Given the description of an element on the screen output the (x, y) to click on. 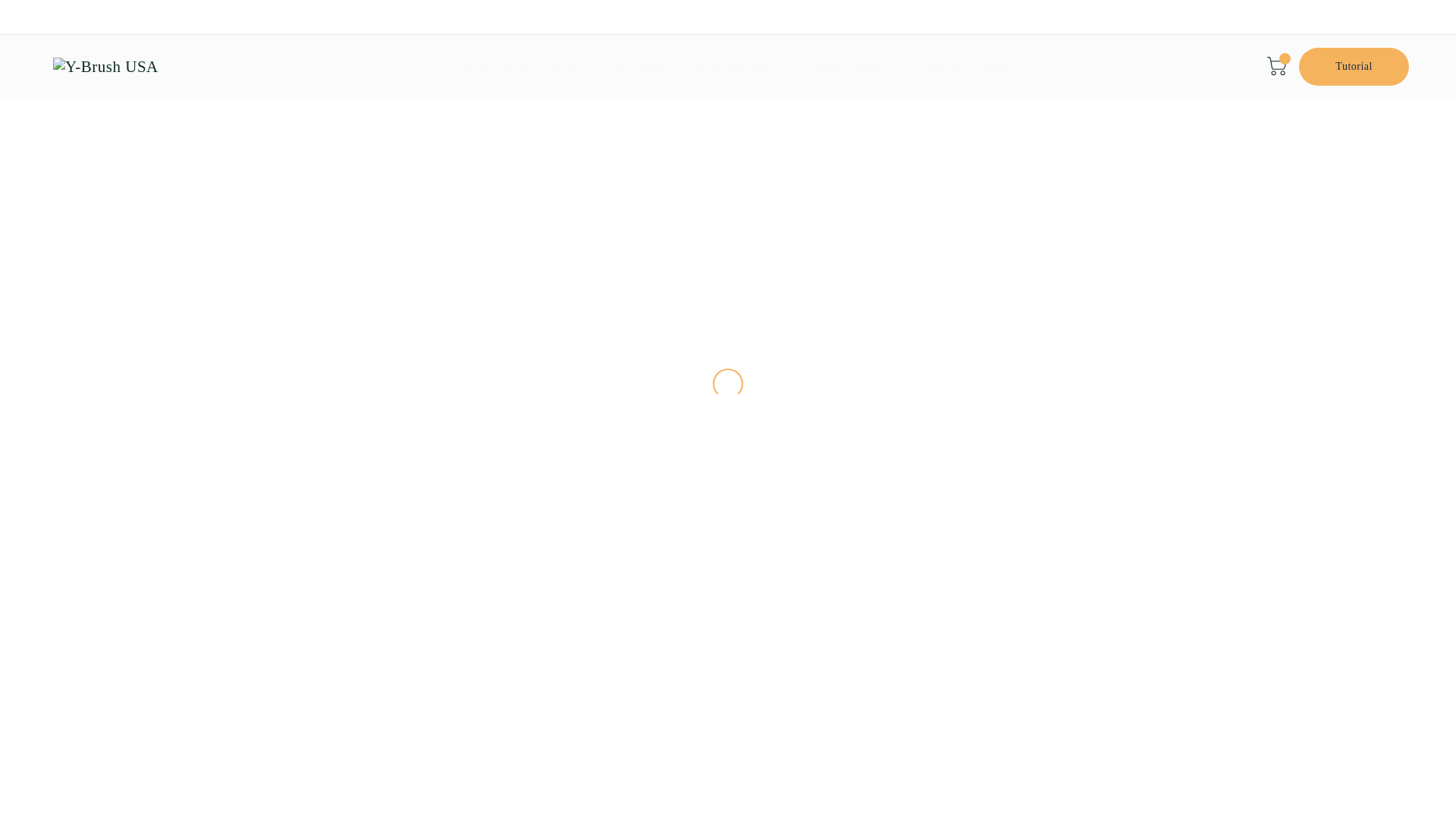
Shop (564, 66)
Help (995, 66)
About us (936, 66)
Dentist Program (729, 66)
Subscription (633, 66)
Tutorial (1353, 66)
Customer Reviews (841, 66)
Back To School (486, 66)
